Given the description of an element on the screen output the (x, y) to click on. 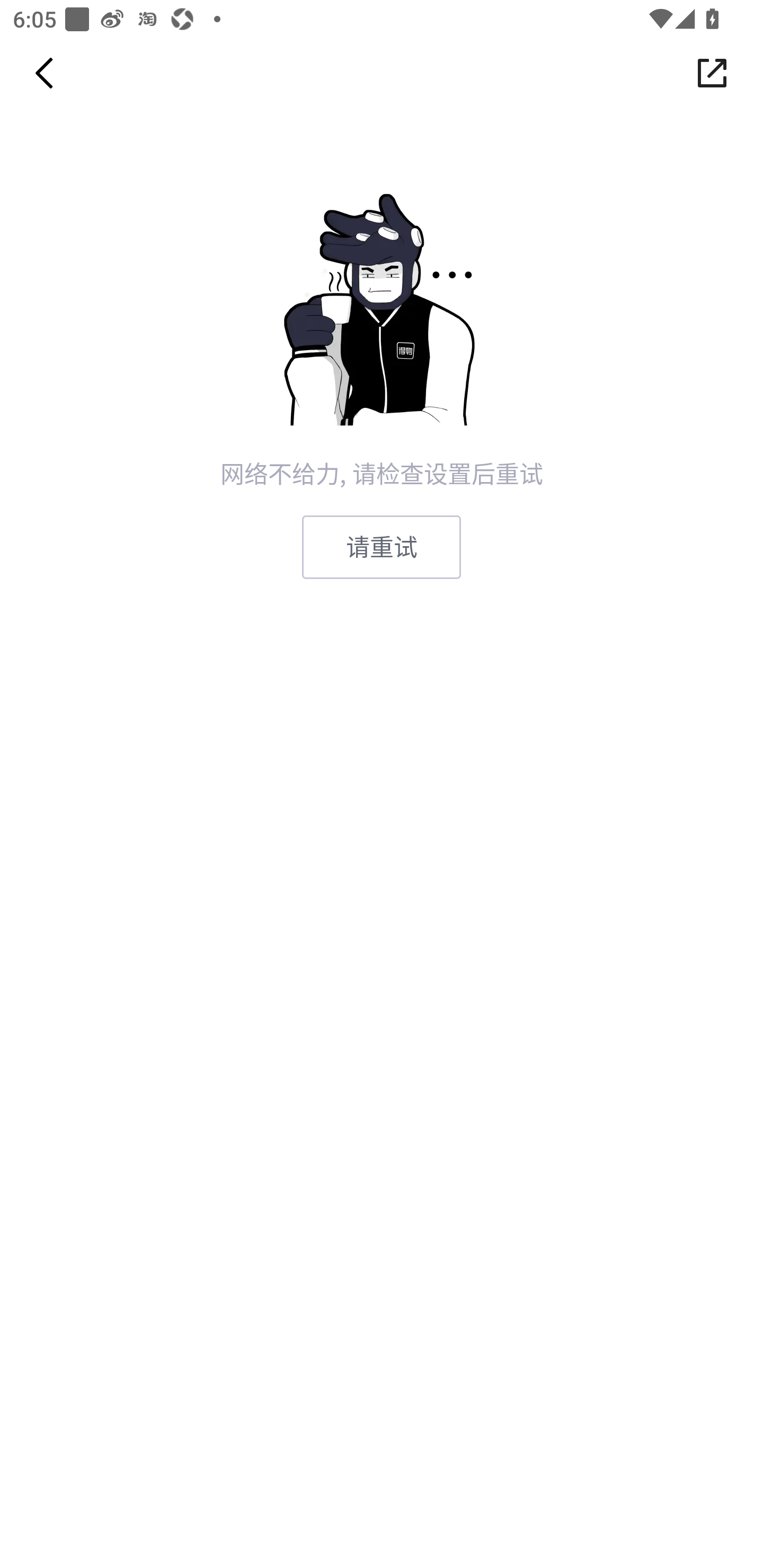
 (712, 72)
请重试 (381, 546)
